Given the description of an element on the screen output the (x, y) to click on. 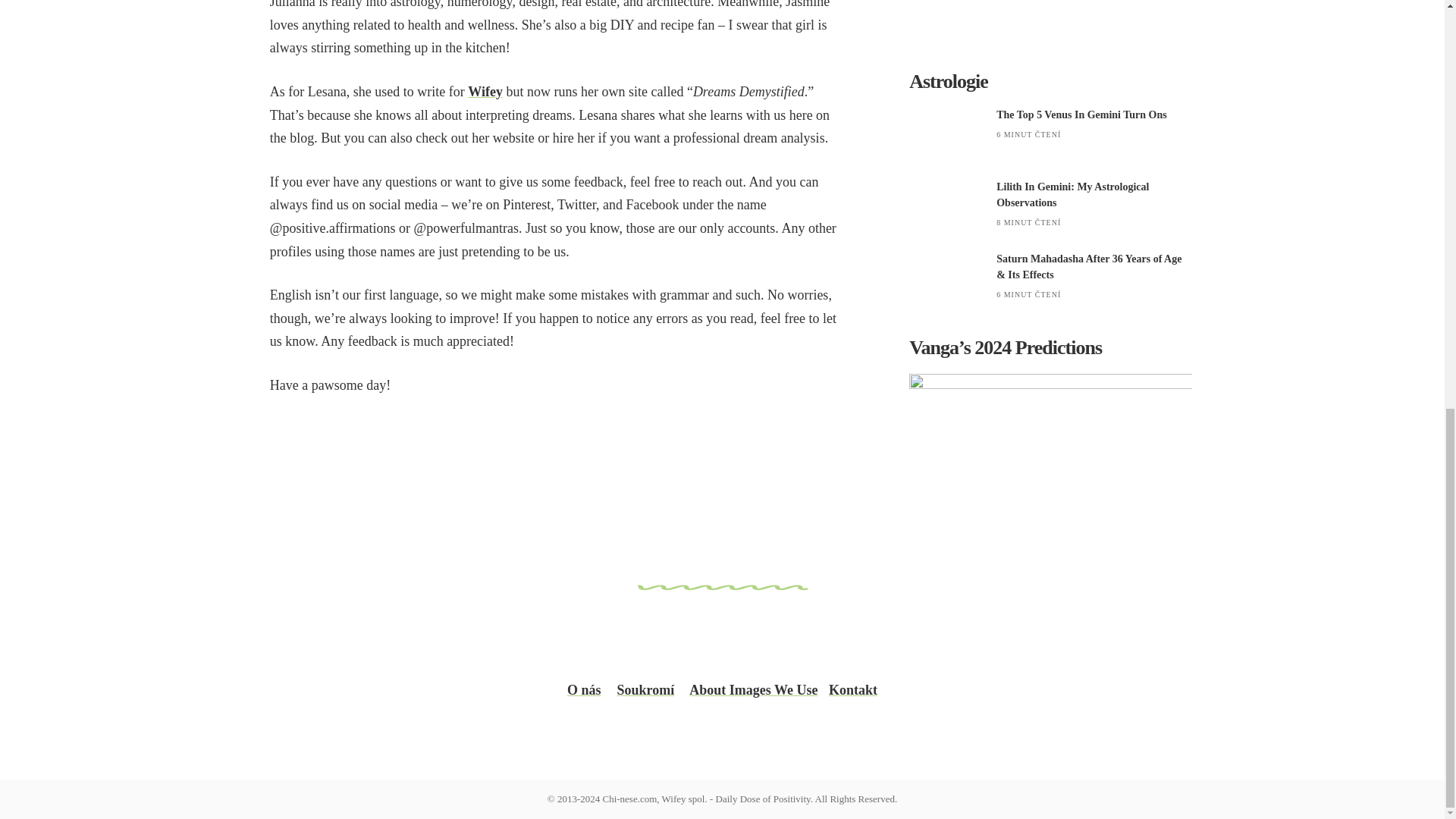
Instagram (649, 642)
Pinterest (1081, 642)
Facebook (505, 642)
Twitteru (793, 642)
365 Days of Positivity (360, 642)
YouTube (937, 642)
